Given the description of an element on the screen output the (x, y) to click on. 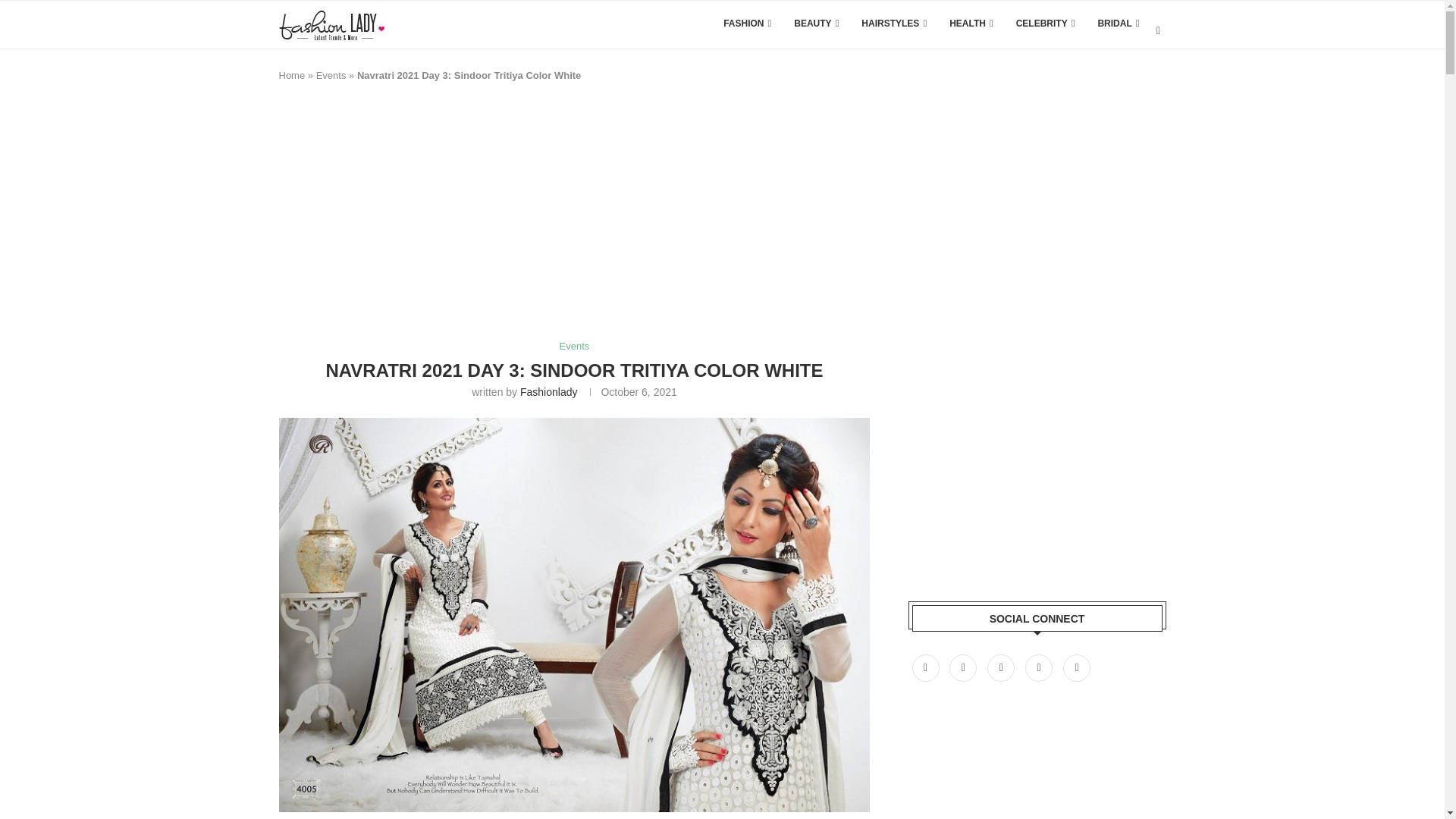
Events (574, 346)
CELEBRITY (1045, 22)
HAIRSTYLES (893, 22)
Home (292, 75)
Advertisement (555, 218)
FASHION (747, 22)
HEALTH (970, 22)
BRIDAL (1117, 22)
BEAUTY (815, 22)
Fashionlady (548, 391)
Events (330, 75)
